Given the description of an element on the screen output the (x, y) to click on. 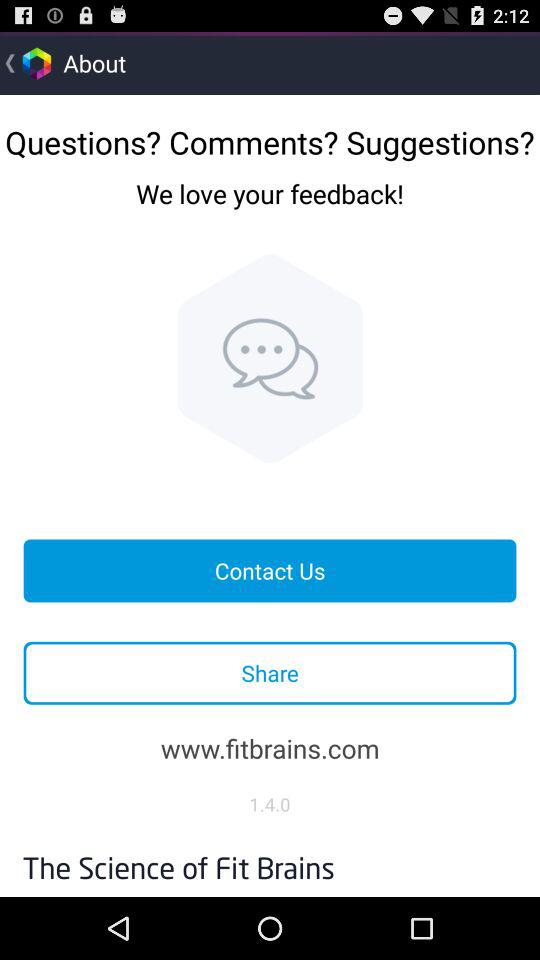
open 1.4.0 (270, 803)
